Given the description of an element on the screen output the (x, y) to click on. 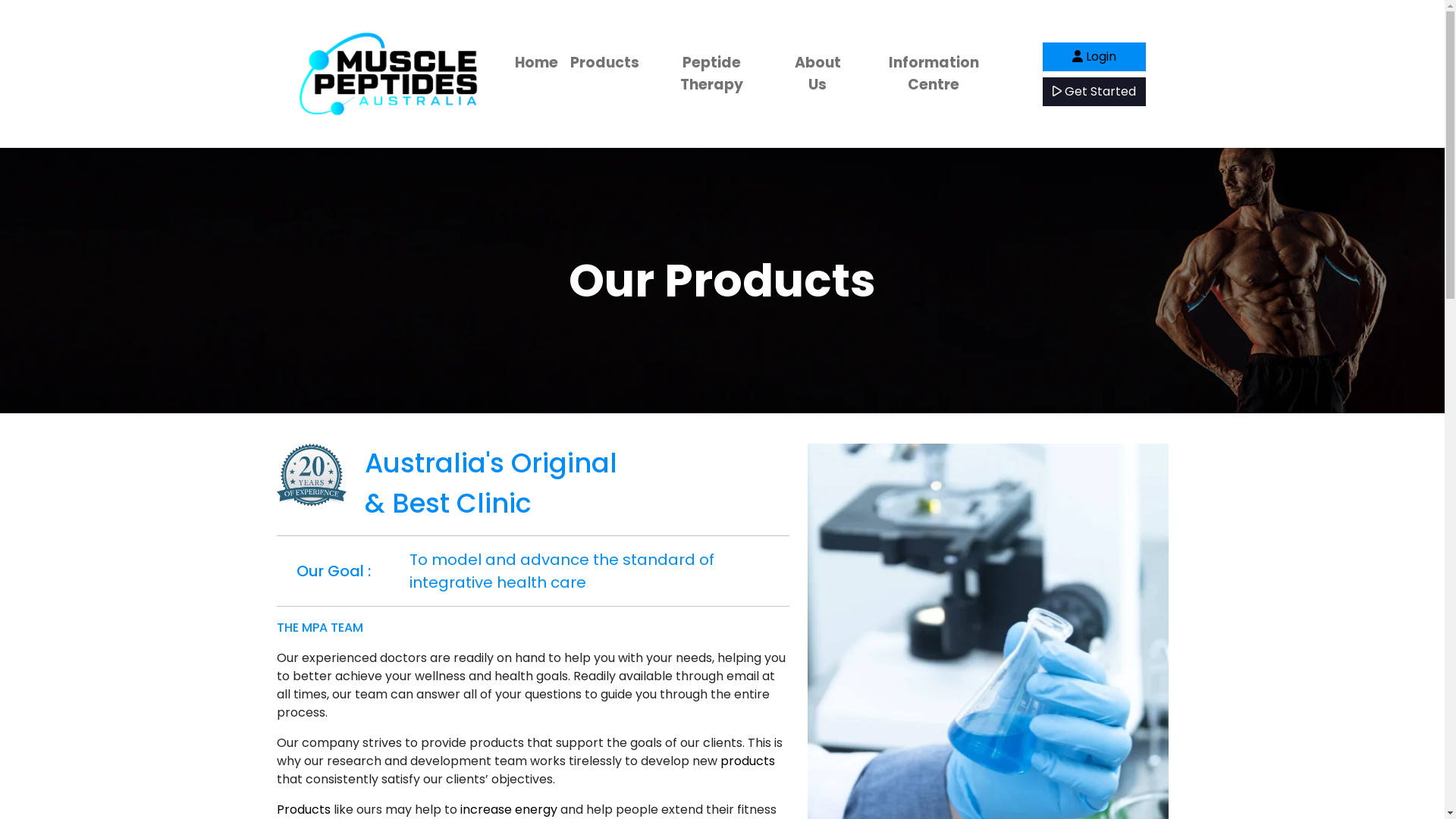
Peptide Therapy Element type: text (711, 73)
Products Element type: text (604, 63)
About Us Element type: text (817, 73)
increase energy Element type: text (507, 809)
Information Centre Element type: text (933, 73)
Get Started Element type: text (1093, 91)
Login Element type: text (1093, 56)
Products Element type: text (302, 809)
Home Element type: text (535, 63)
products Element type: text (747, 760)
